Given the description of an element on the screen output the (x, y) to click on. 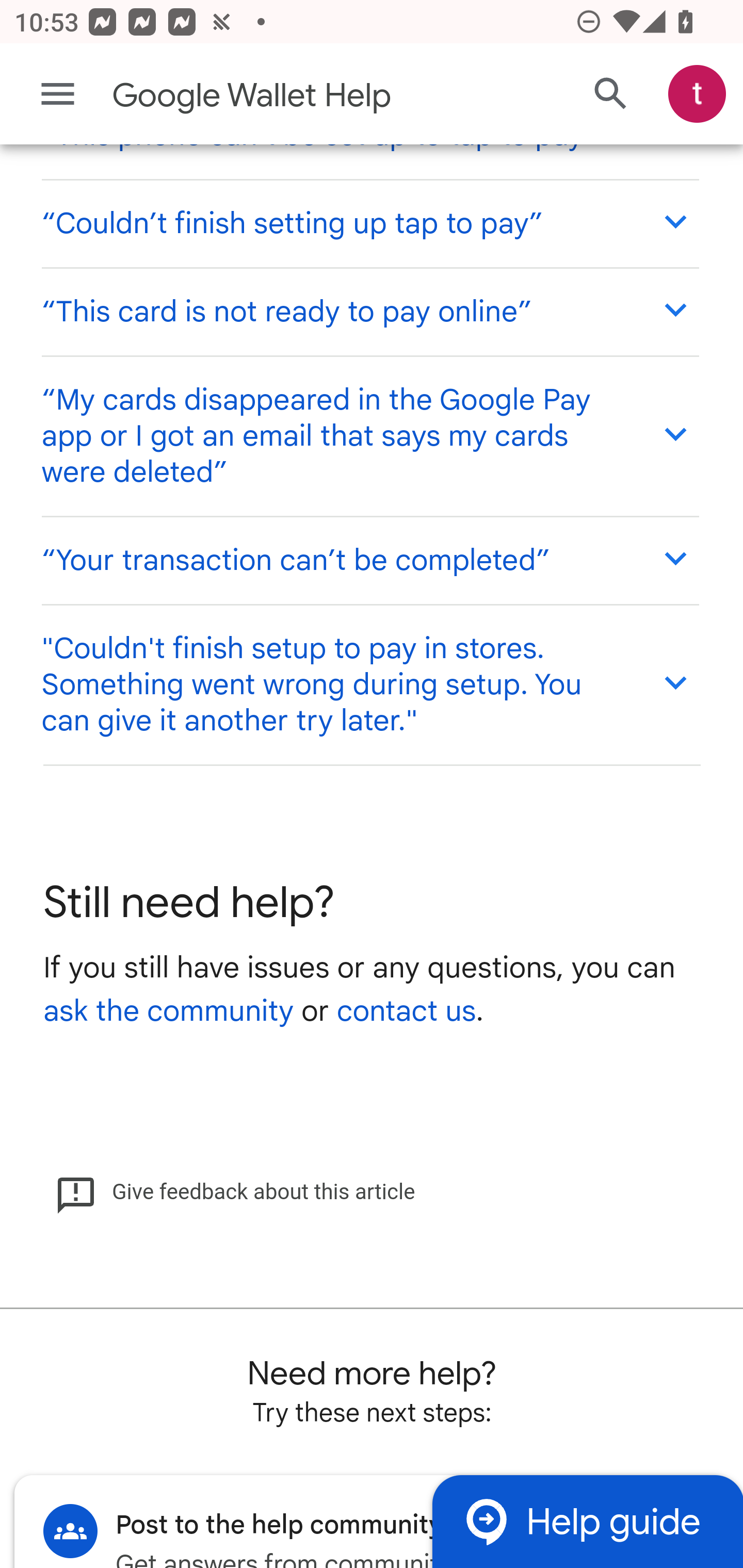
Main menu (58, 93)
Google Wallet Help (292, 96)
Search Help Center (611, 94)
“Couldn’t finish setting up tap to pay” (369, 223)
“This card is not ready to pay online” (369, 311)
“Your transaction can’t be completed” (369, 560)
ask the community (168, 1012)
contact us (406, 1012)
Give feedback about this article (235, 1192)
Help guide (587, 1520)
